Given the description of an element on the screen output the (x, y) to click on. 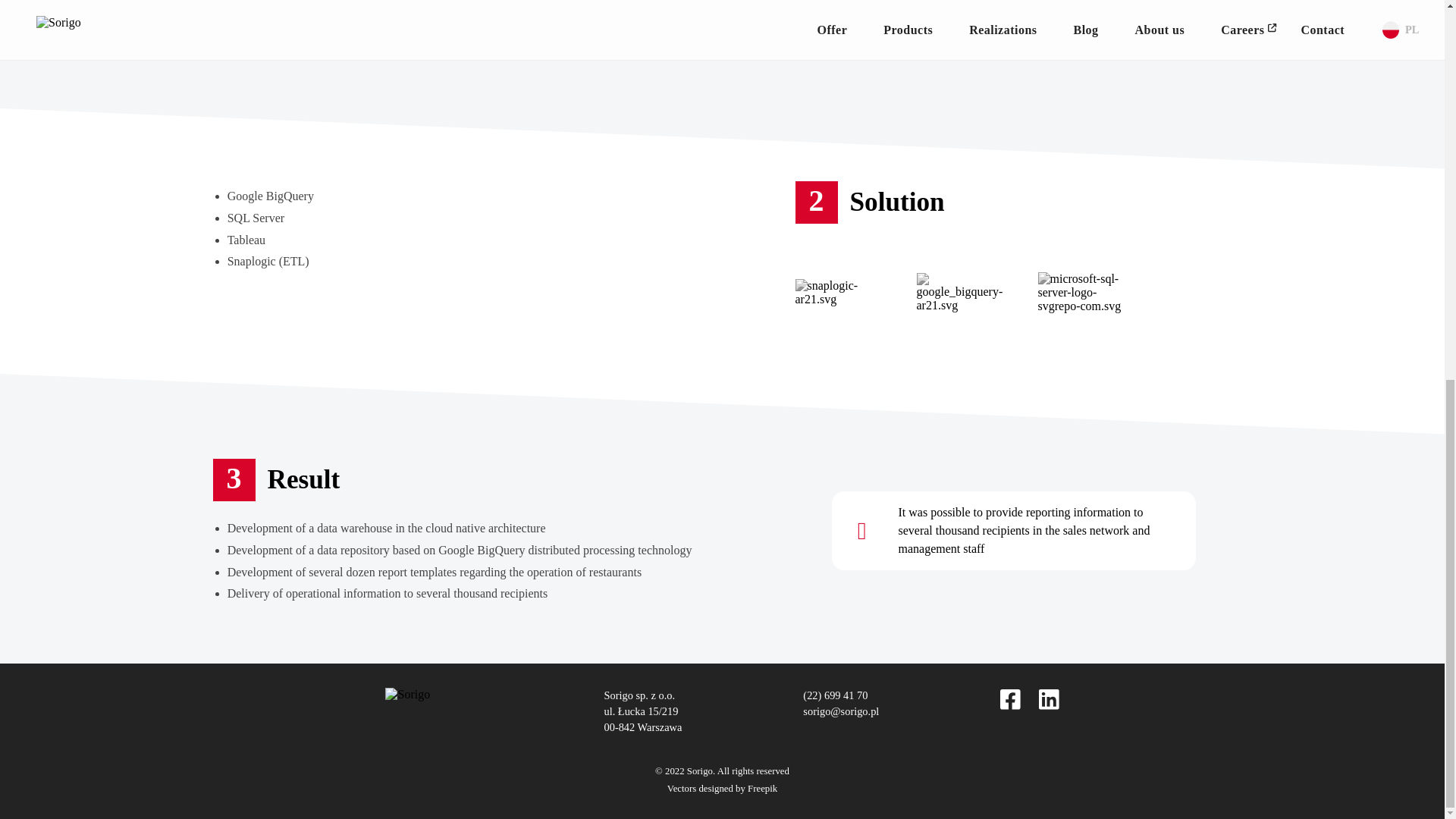
Freepik (762, 787)
